Given the description of an element on the screen output the (x, y) to click on. 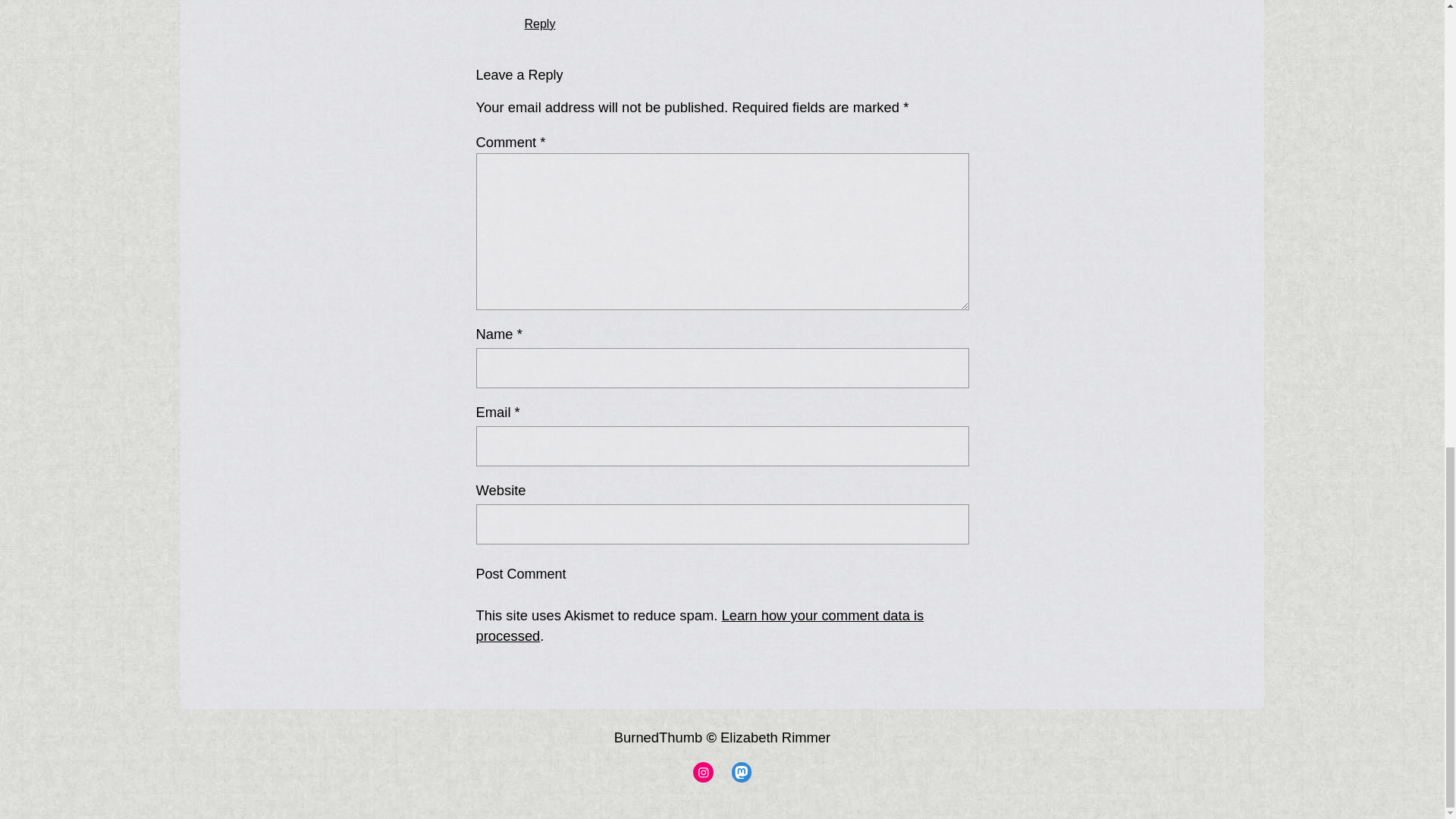
Instagram (703, 772)
Post Comment (533, 573)
Mastodon (740, 772)
Reply (540, 23)
Post Comment (533, 573)
Learn how your comment data is processed (700, 625)
